Given the description of an element on the screen output the (x, y) to click on. 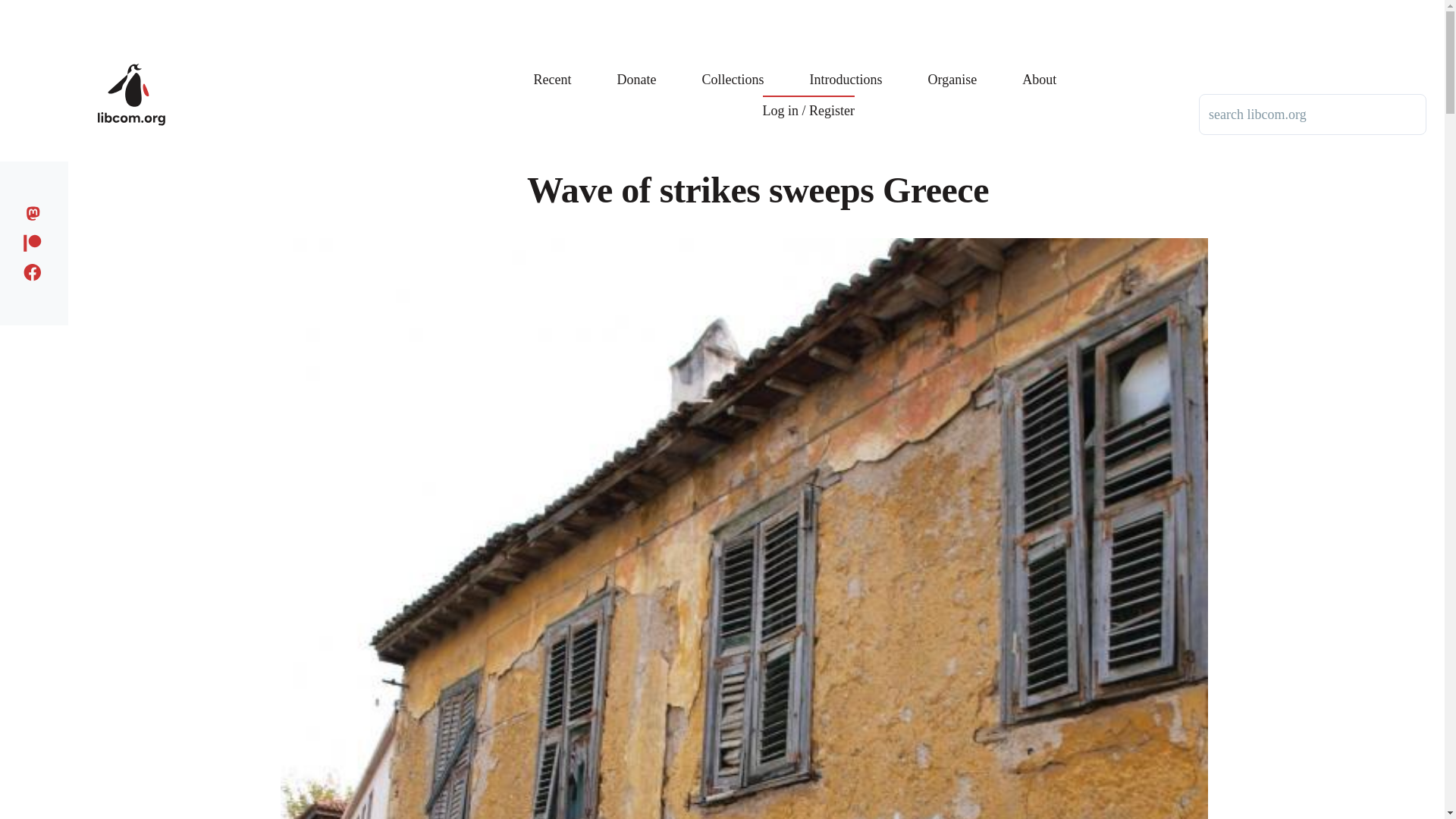
Introductions (845, 68)
Follow us on Mastodon (36, 210)
Collections (732, 68)
Like us on facebook (36, 269)
Organise (952, 68)
Skip to main content (595, 6)
Support us on patreon (36, 239)
